Given the description of an element on the screen output the (x, y) to click on. 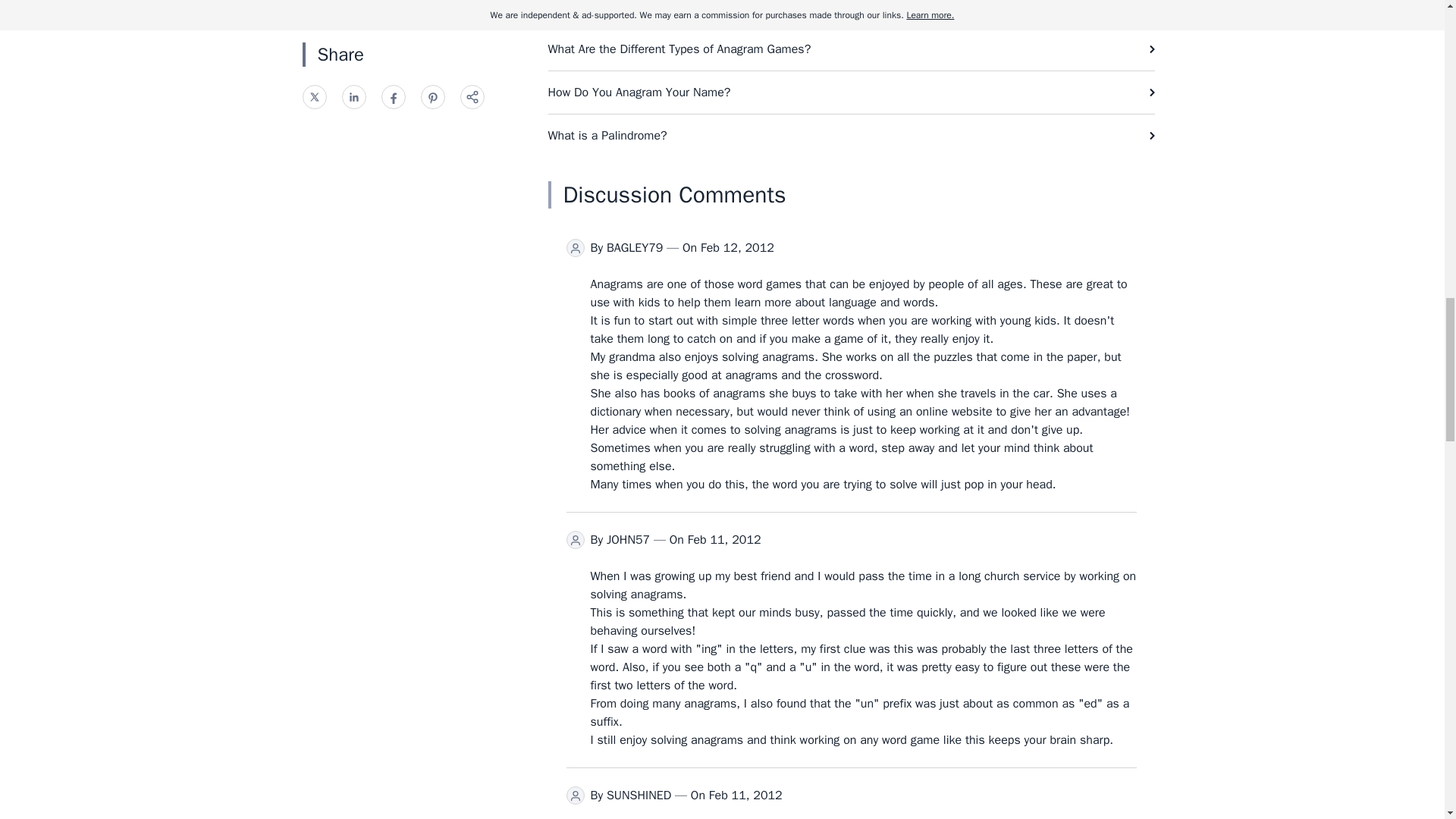
What Are the Different Types of Anagram Games? (850, 48)
